Given the description of an element on the screen output the (x, y) to click on. 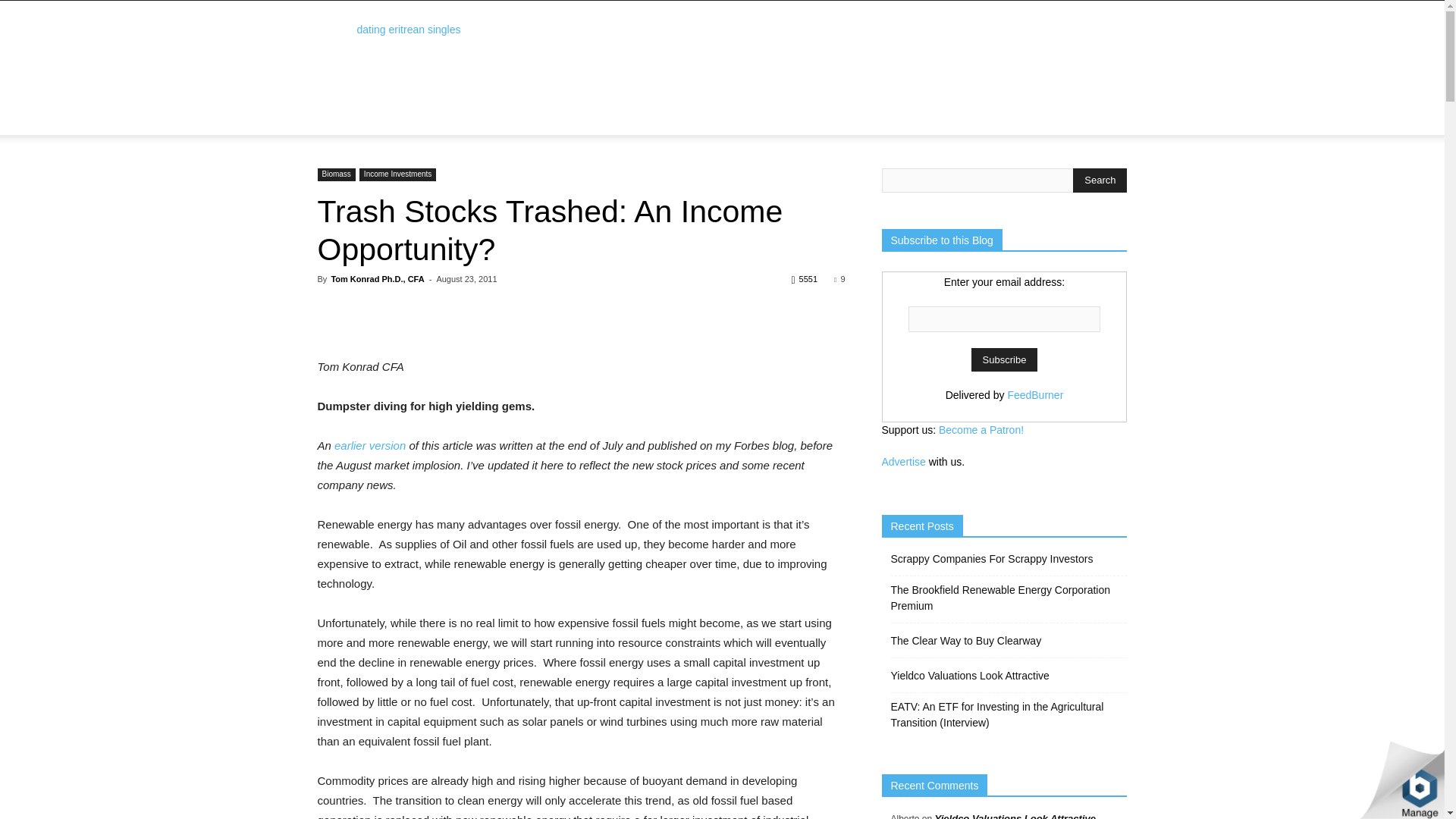
Search (1085, 139)
MUTUAL FUNDS (491, 106)
BATTERY (855, 106)
BIOFUEL (793, 106)
SOLAR (653, 106)
WIND (603, 106)
Advertisement (850, 56)
EFFICIENT VEHICLES (466, 125)
HOME (341, 106)
ENERGY EFFICIENCY (944, 106)
